Given the description of an element on the screen output the (x, y) to click on. 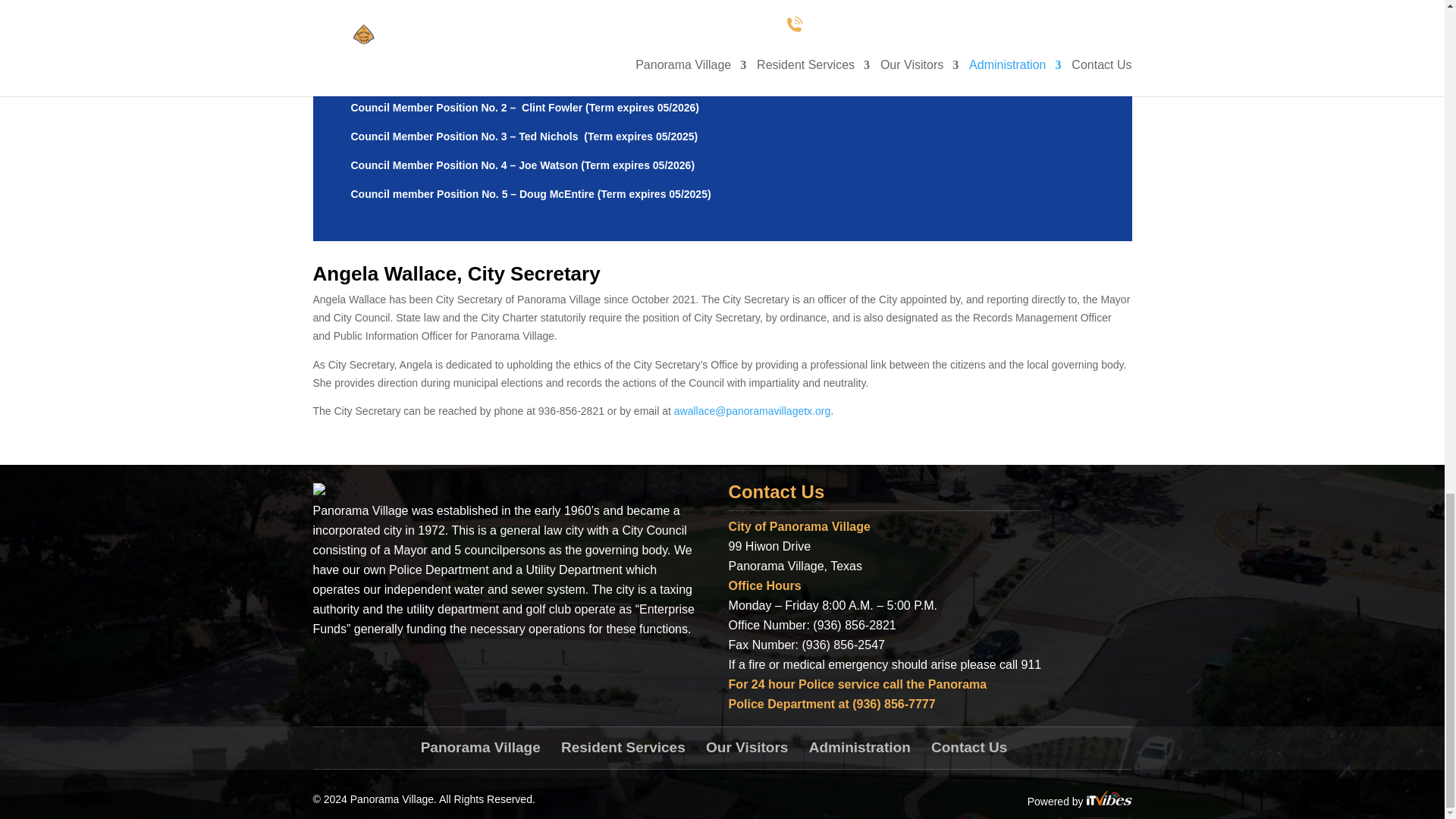
itvibes (1108, 801)
ITVibes (1108, 798)
